Given the description of an element on the screen output the (x, y) to click on. 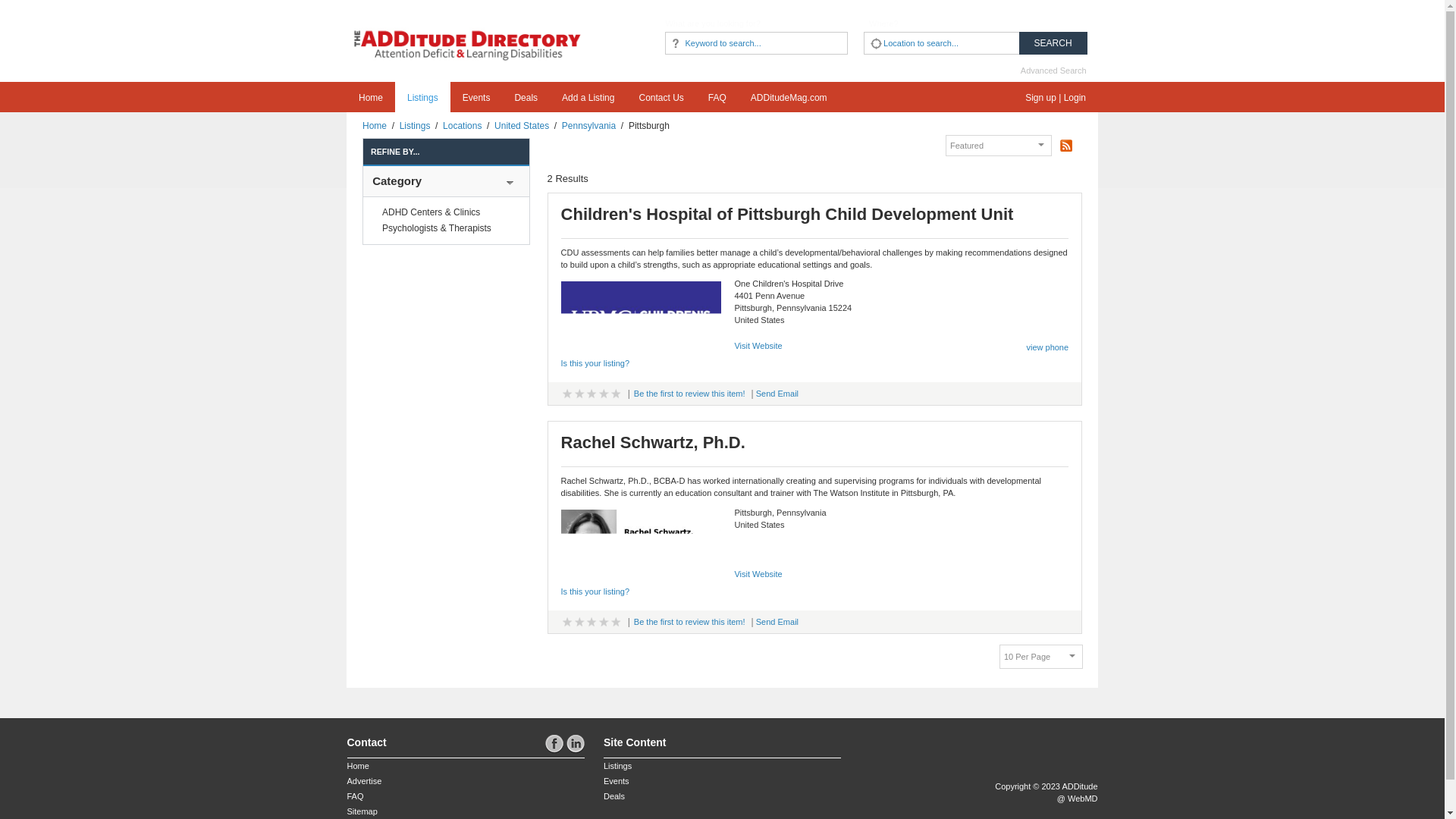
Visit Website (757, 345)
Listings (414, 125)
Find us on LinkedIn (575, 742)
Home (370, 96)
FAQ (716, 96)
United States (997, 145)
Home (521, 125)
Children's Hospital of Pittsburgh Child Development Unit (374, 125)
Add a Listing (641, 315)
